Given the description of an element on the screen output the (x, y) to click on. 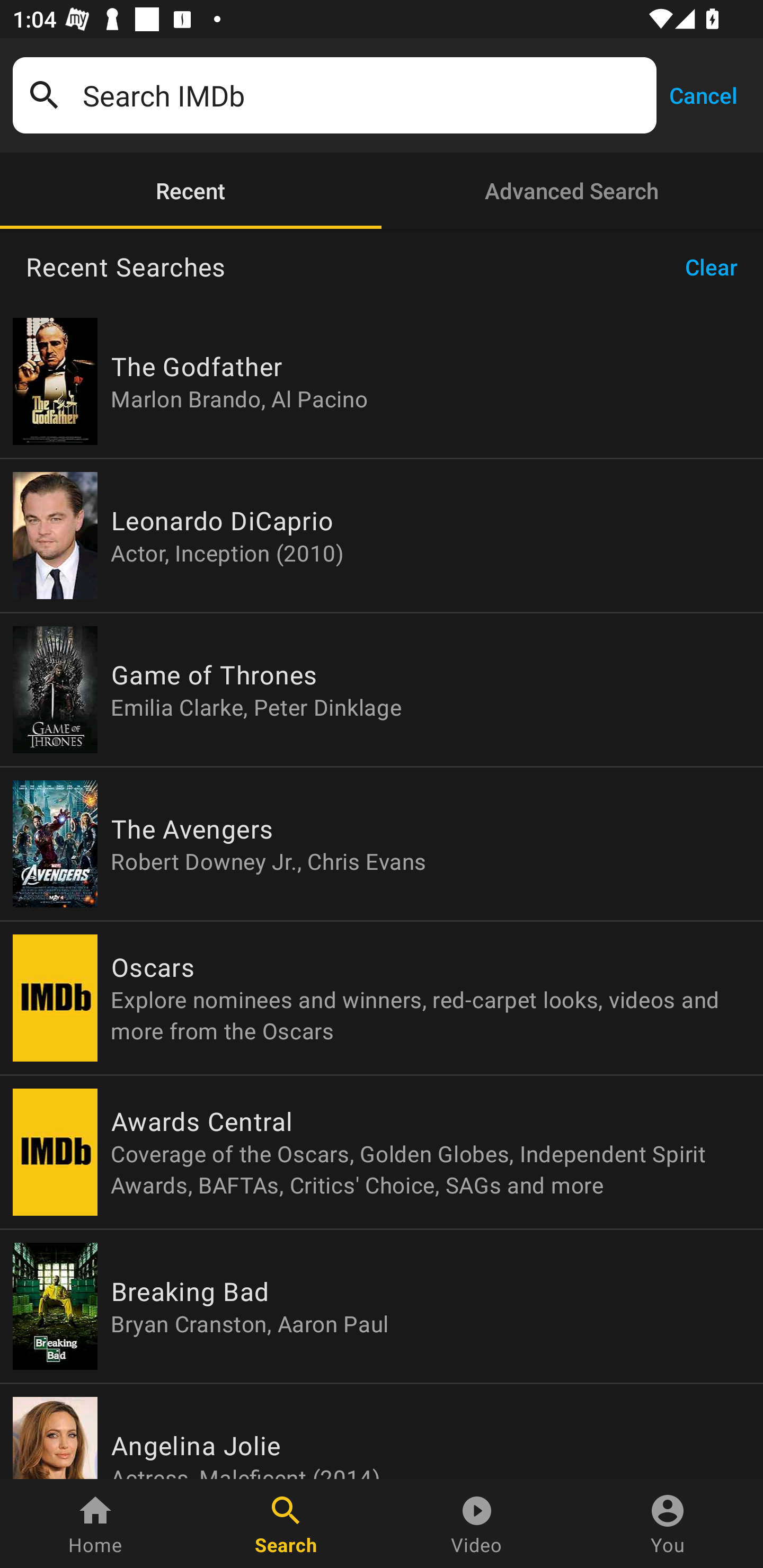
Cancel (703, 94)
Search IMDb (363, 95)
Advanced Search (572, 190)
Clear (717, 266)
The Godfather Marlon Brando, Al Pacino (381, 381)
Leonardo DiCaprio Actor, Inception (2010) (381, 535)
Game of Thrones Emilia Clarke, Peter Dinklage (381, 689)
The Avengers Robert Downey Jr., Chris Evans (381, 844)
Breaking Bad Bryan Cranston, Aaron Paul (381, 1305)
Angelina Jolie Actress, Maleficent (2014) (381, 1431)
Home (95, 1523)
Video (476, 1523)
You (667, 1523)
